Given the description of an element on the screen output the (x, y) to click on. 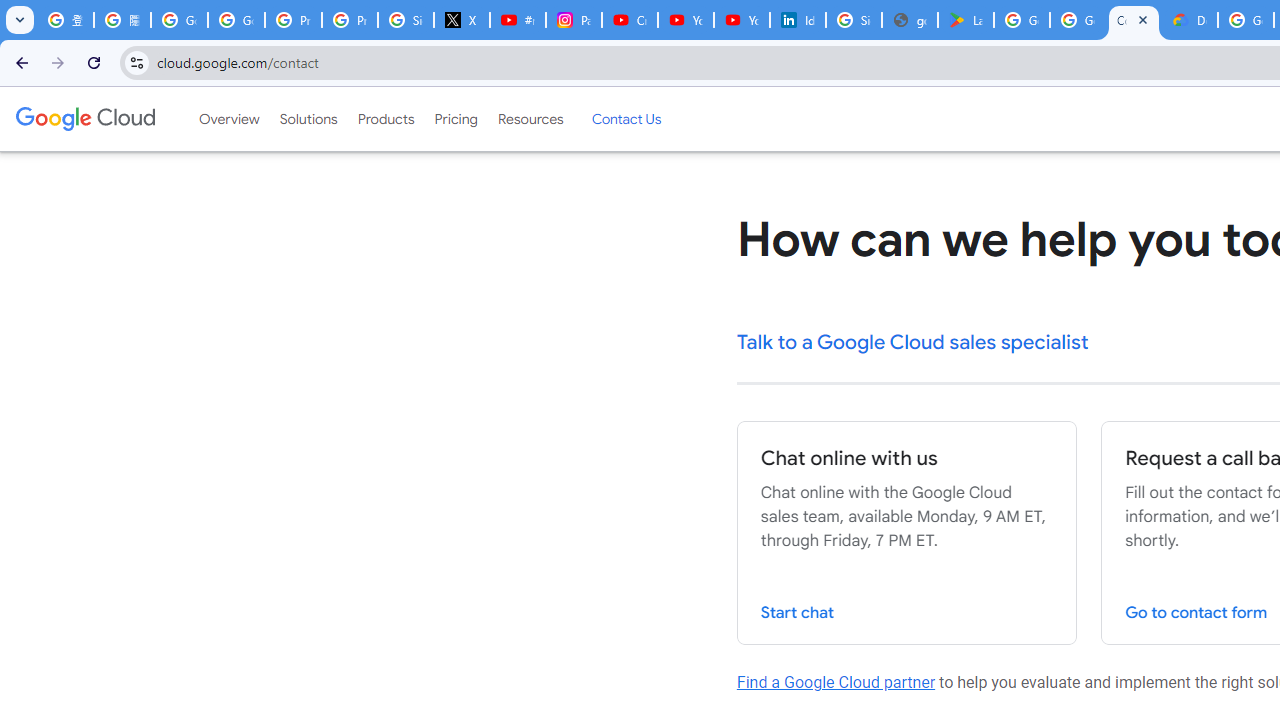
Solutions (308, 119)
Resources (530, 119)
Last Shelter: Survival - Apps on Google Play (966, 20)
Sign in - Google Accounts (405, 20)
Google Workspace - Specific Terms (1077, 20)
Products (385, 119)
YouTube Culture & Trends - YouTube Top 10, 2021 (742, 20)
Privacy Help Center - Policies Help (349, 20)
